Given the description of an element on the screen output the (x, y) to click on. 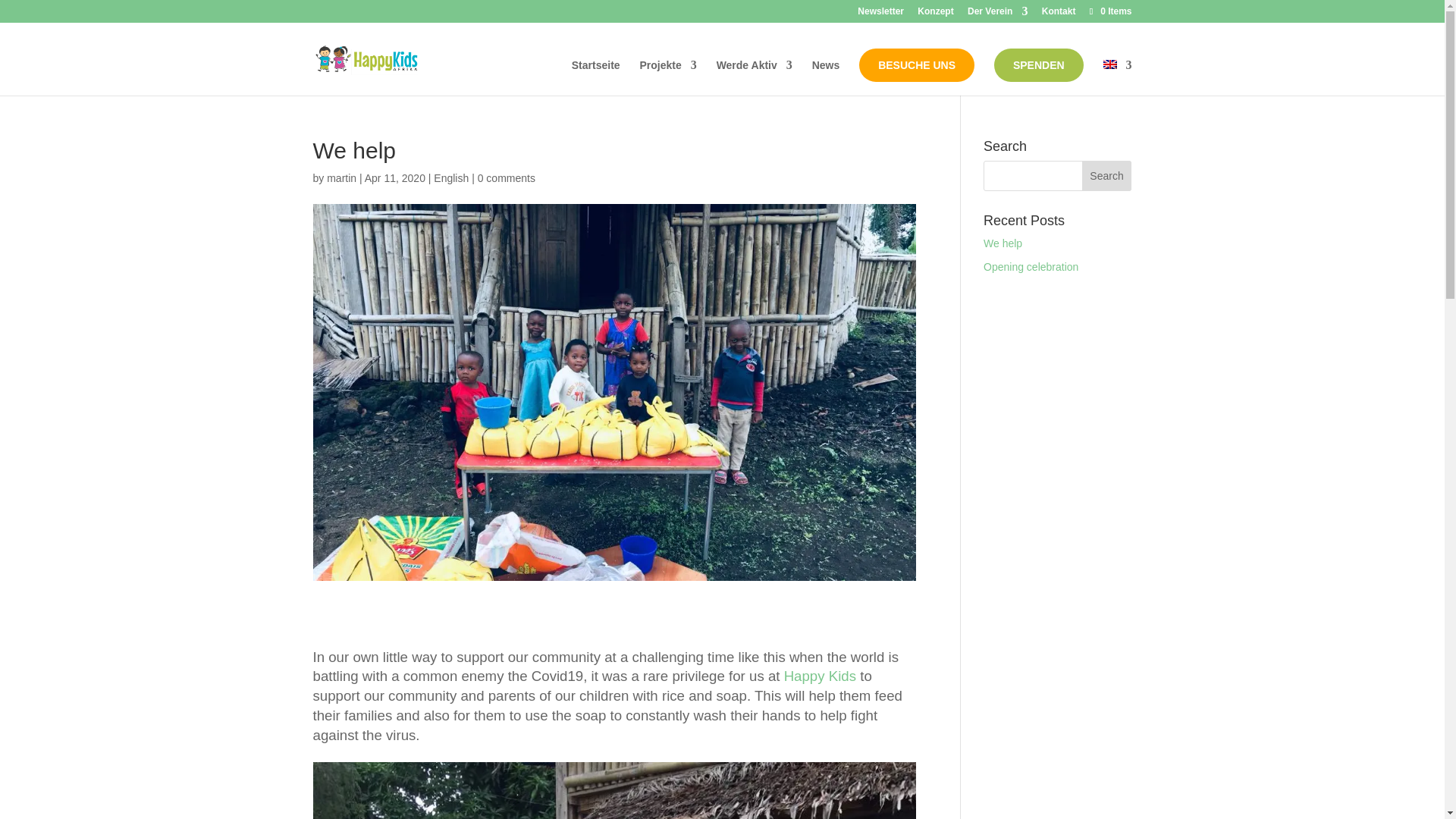
Kontakt (1058, 14)
Newsletter (880, 14)
Posts by martin (341, 177)
BESUCHE UNS (916, 64)
Projekte (667, 77)
0 Items (1108, 10)
Werde Aktiv (754, 77)
Search (1106, 175)
Konzept (935, 14)
SPENDEN (1038, 64)
Der Verein (997, 14)
Startseite (596, 77)
